Given the description of an element on the screen output the (x, y) to click on. 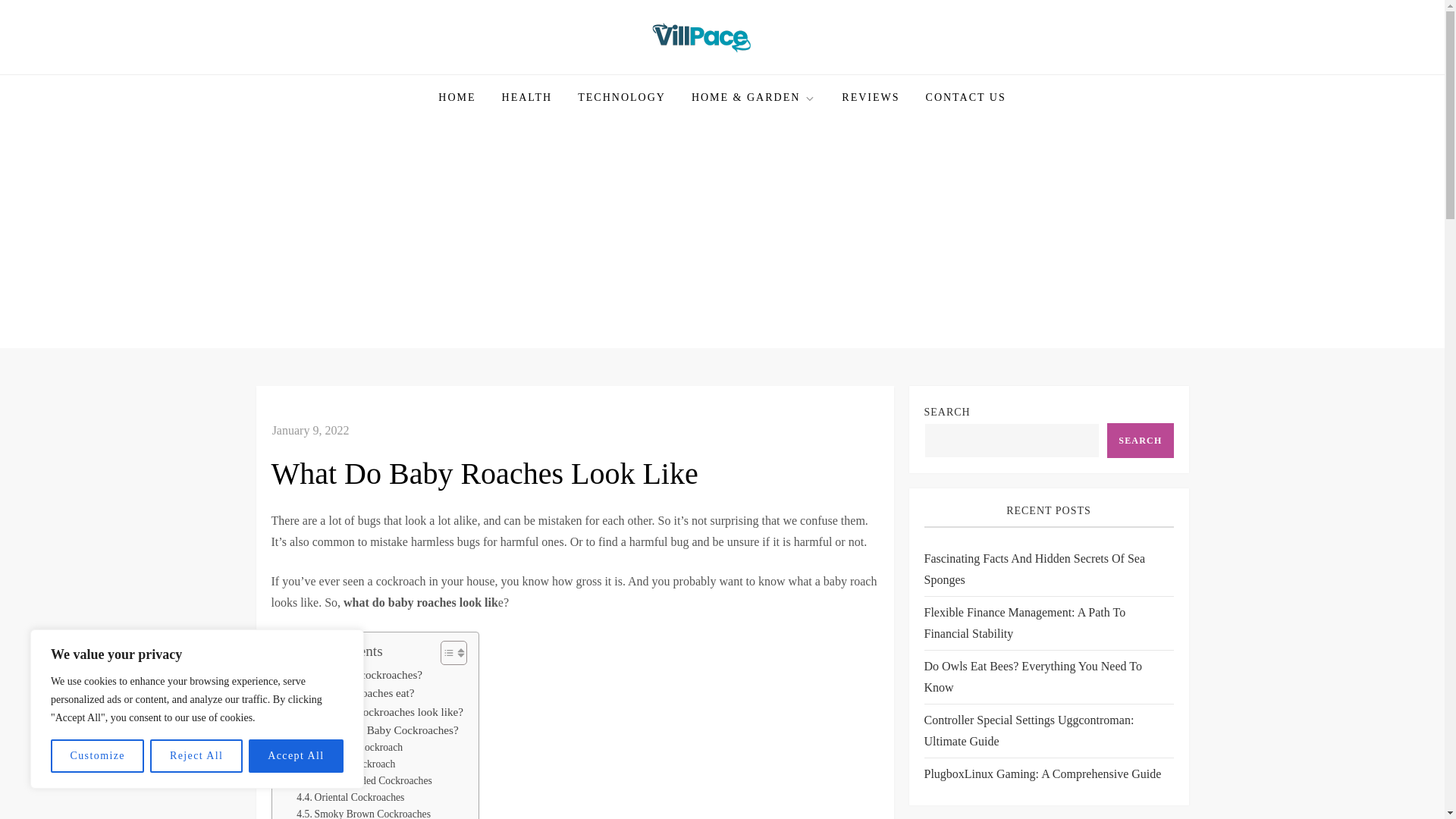
CONTACT US (965, 97)
What are baby cockroaches? (350, 674)
Brown-banded Cockroaches (364, 781)
Brown-banded Cockroaches (364, 781)
HOME (456, 97)
American Cockroach (350, 747)
Accept All (295, 756)
Smoky Brown Cockroaches (363, 812)
How to Identify Baby Cockroaches? (368, 730)
Smoky Brown Cockroaches (363, 812)
What do baby cockroaches look like? (371, 711)
Oriental Cockroaches (350, 797)
HEALTH (527, 97)
American Cockroach (350, 747)
REVIEWS (870, 97)
